Given the description of an element on the screen output the (x, y) to click on. 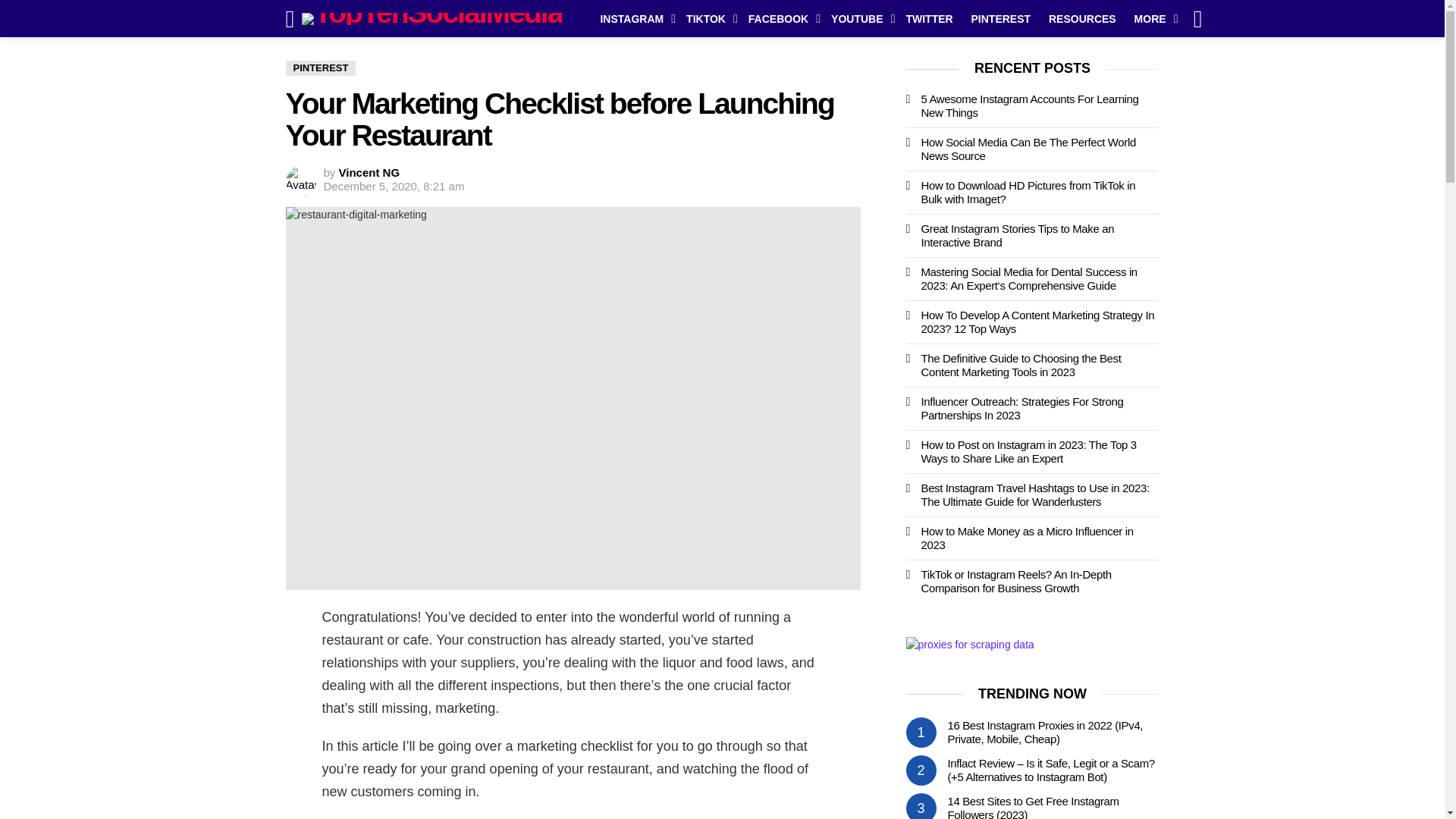
Menu (289, 19)
Posts by Vincent NG (369, 172)
FACEBOOK (781, 18)
YOUTUBE (859, 18)
INSTAGRAM (633, 18)
TIKTOK (708, 18)
PINTEREST (1001, 18)
TWITTER (928, 18)
